Given the description of an element on the screen output the (x, y) to click on. 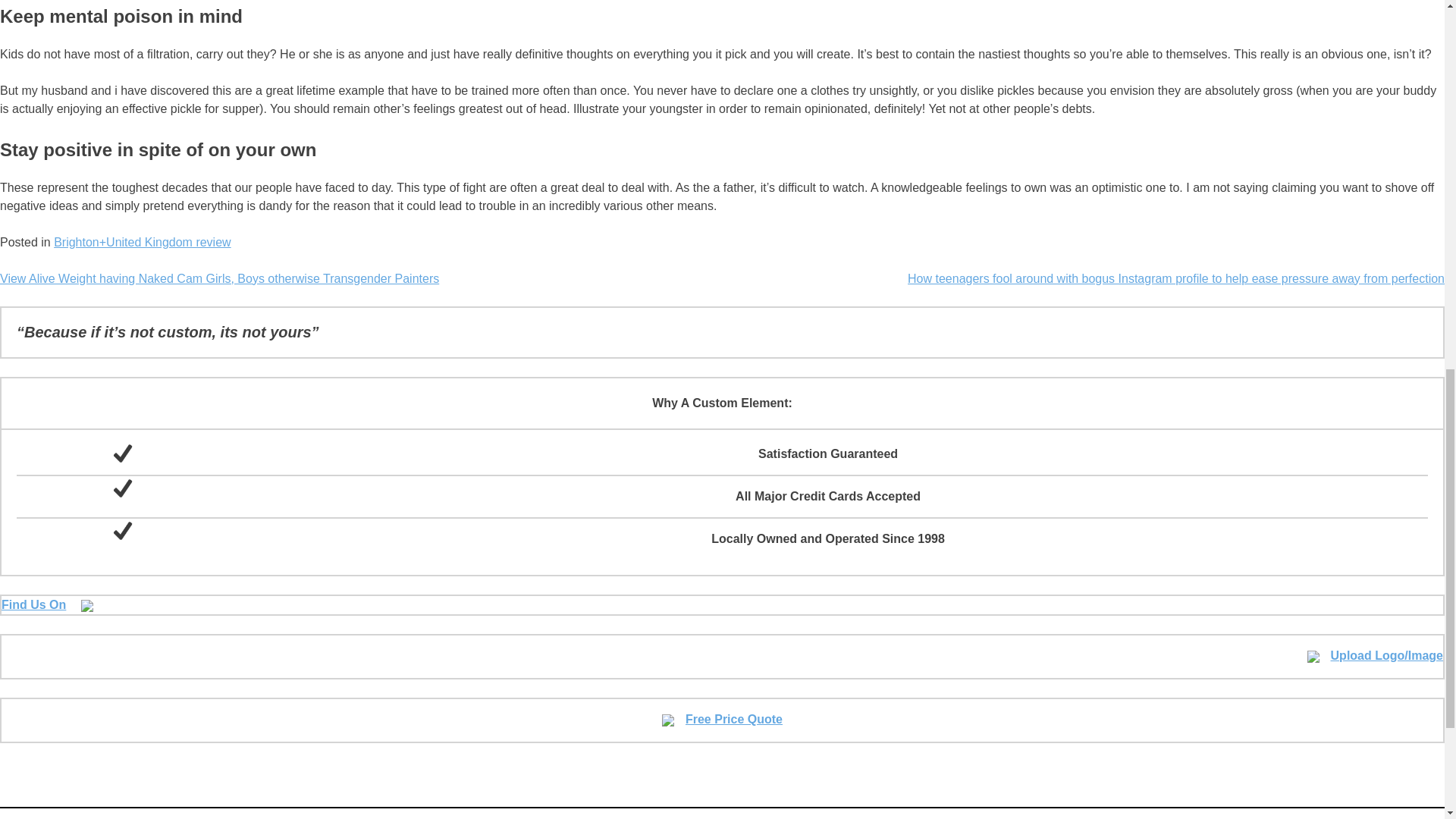
Free Price Quote (722, 718)
Find Us On (47, 604)
